Given the description of an element on the screen output the (x, y) to click on. 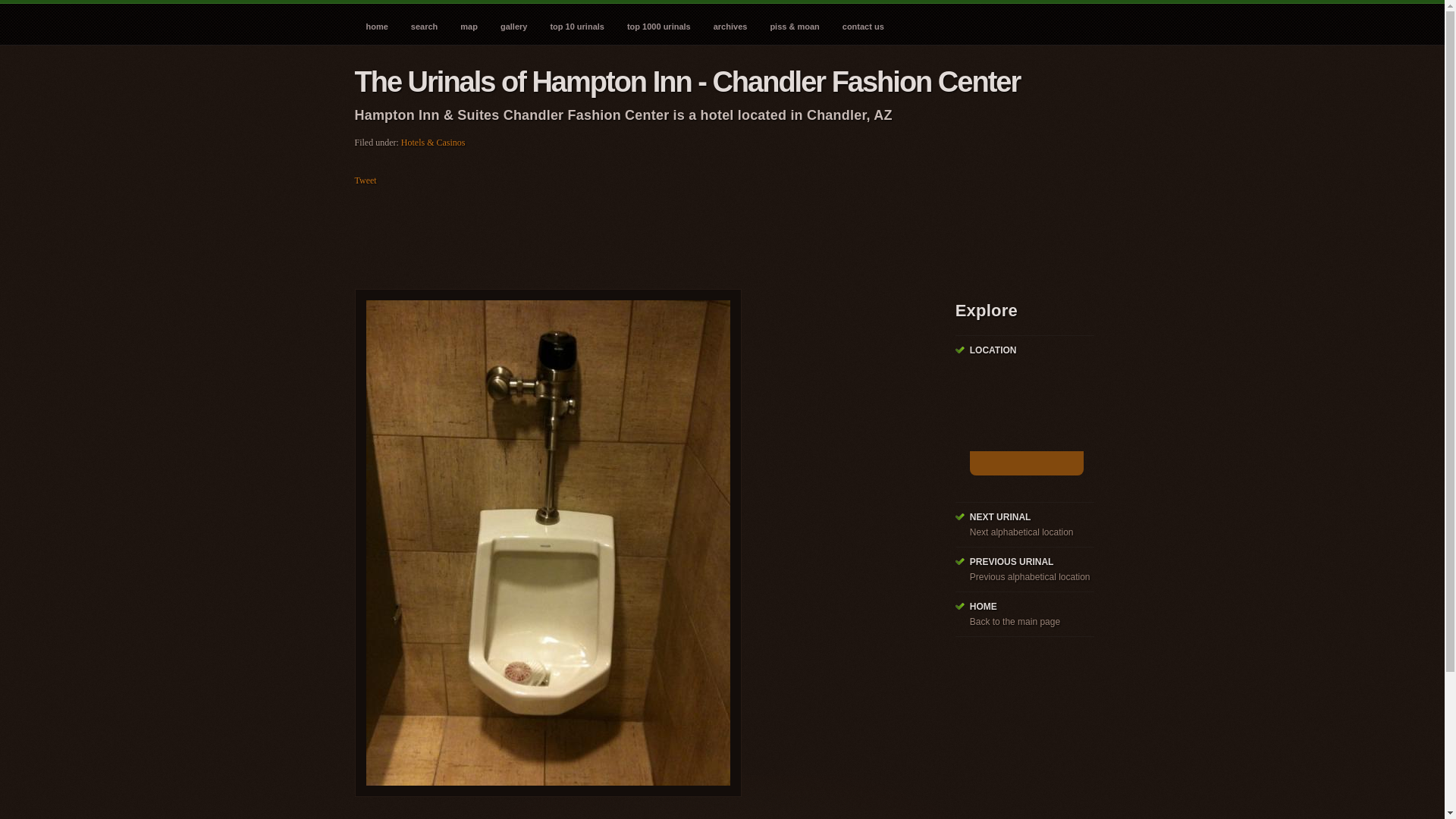
HOME (983, 606)
archives (729, 22)
LOCATION (992, 349)
Advertisement (631, 233)
home (376, 22)
PREVIOUS URINAL (1011, 561)
top 10 urinals (576, 22)
gallery (513, 22)
map (468, 22)
search (423, 22)
Tweet (366, 180)
Click for map (1026, 463)
NEXT URINAL (999, 516)
contact us (863, 22)
Click for map (1026, 422)
